Given the description of an element on the screen output the (x, y) to click on. 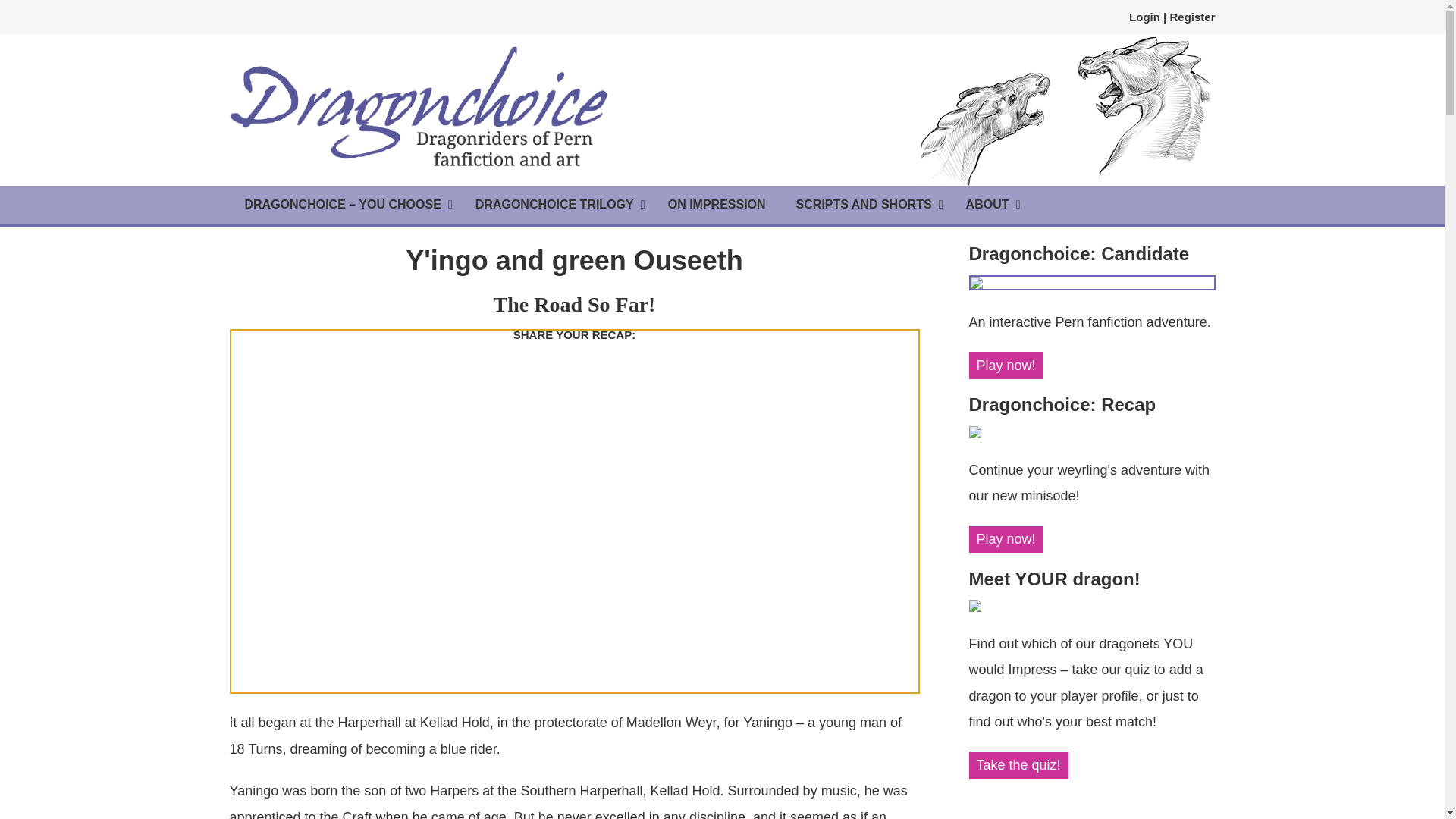
ON IMPRESSION (716, 204)
SCRIPTS AND SHORTS (865, 204)
Register (1191, 16)
Dragonchoice: Dragonriders of Pern fan fiction and fan art (418, 106)
Login (1144, 16)
Play now! (1006, 365)
Play now! (1006, 538)
ABOUT (988, 204)
Take the quiz! (1018, 764)
Pernese dragons (1062, 109)
